Given the description of an element on the screen output the (x, y) to click on. 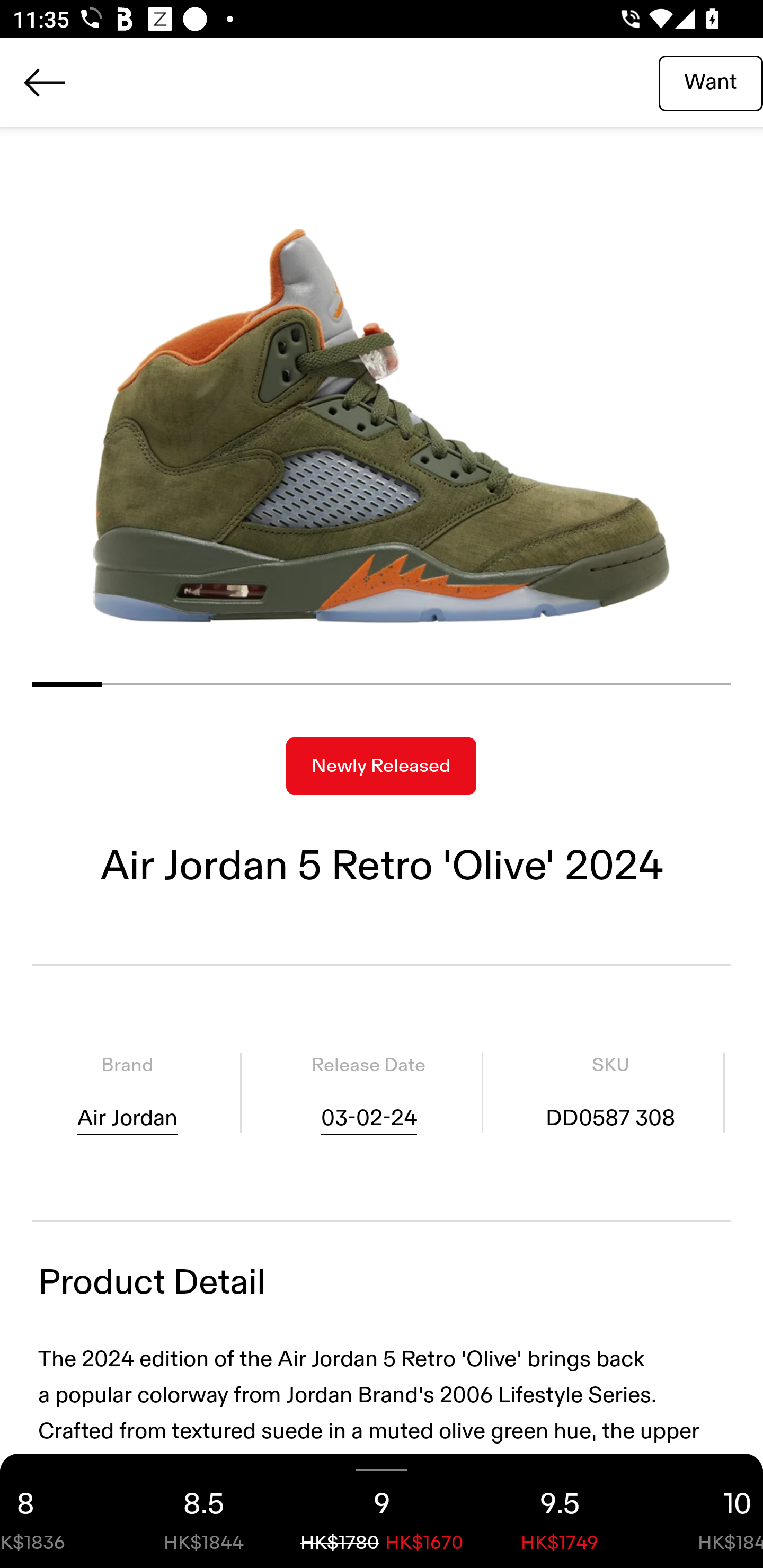
Want (710, 82)
Newly Released (381, 765)
Brand Air Jordan (126, 1092)
Release Date 03-02-24 (368, 1092)
SKU DD0587 308 (609, 1092)
8 HK$1836 (57, 1510)
8.5 HK$1844 (203, 1510)
9 HK$1780 HK$1670 (381, 1510)
9.5 HK$1749 (559, 1510)
10 HK$1844 (705, 1510)
